Given the description of an element on the screen output the (x, y) to click on. 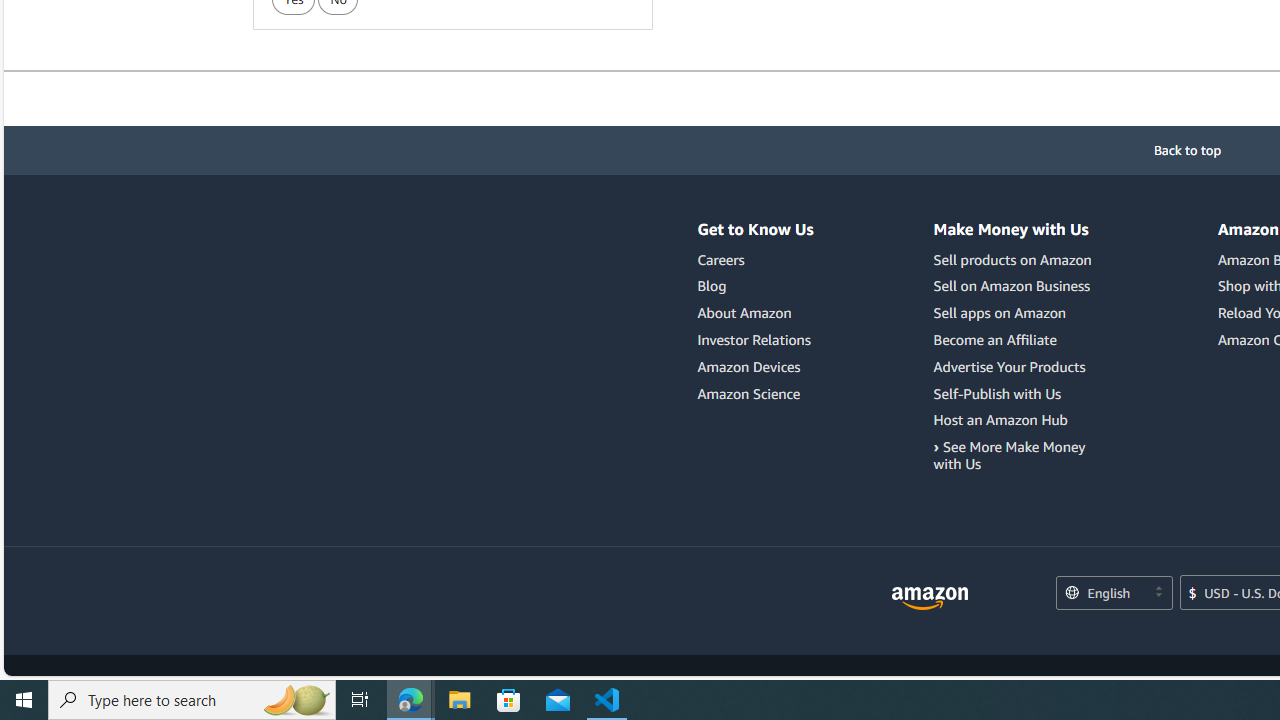
Sell apps on Amazon (1015, 313)
Host an Amazon Hub (1000, 420)
Become an Affiliate (1015, 340)
Sell on Amazon Business (1011, 286)
About Amazon (755, 313)
Sell on Amazon Business (1015, 286)
Host an Amazon Hub (1015, 420)
Become an Affiliate (995, 339)
See More Make Money with Us (1015, 456)
Choose a language for shopping. (1113, 593)
Sell products on Amazon (1012, 259)
See More Make Money with Us (1009, 455)
Advertise Your Products (1009, 366)
Advertise Your Products (1015, 366)
About Amazon (744, 313)
